Given the description of an element on the screen output the (x, y) to click on. 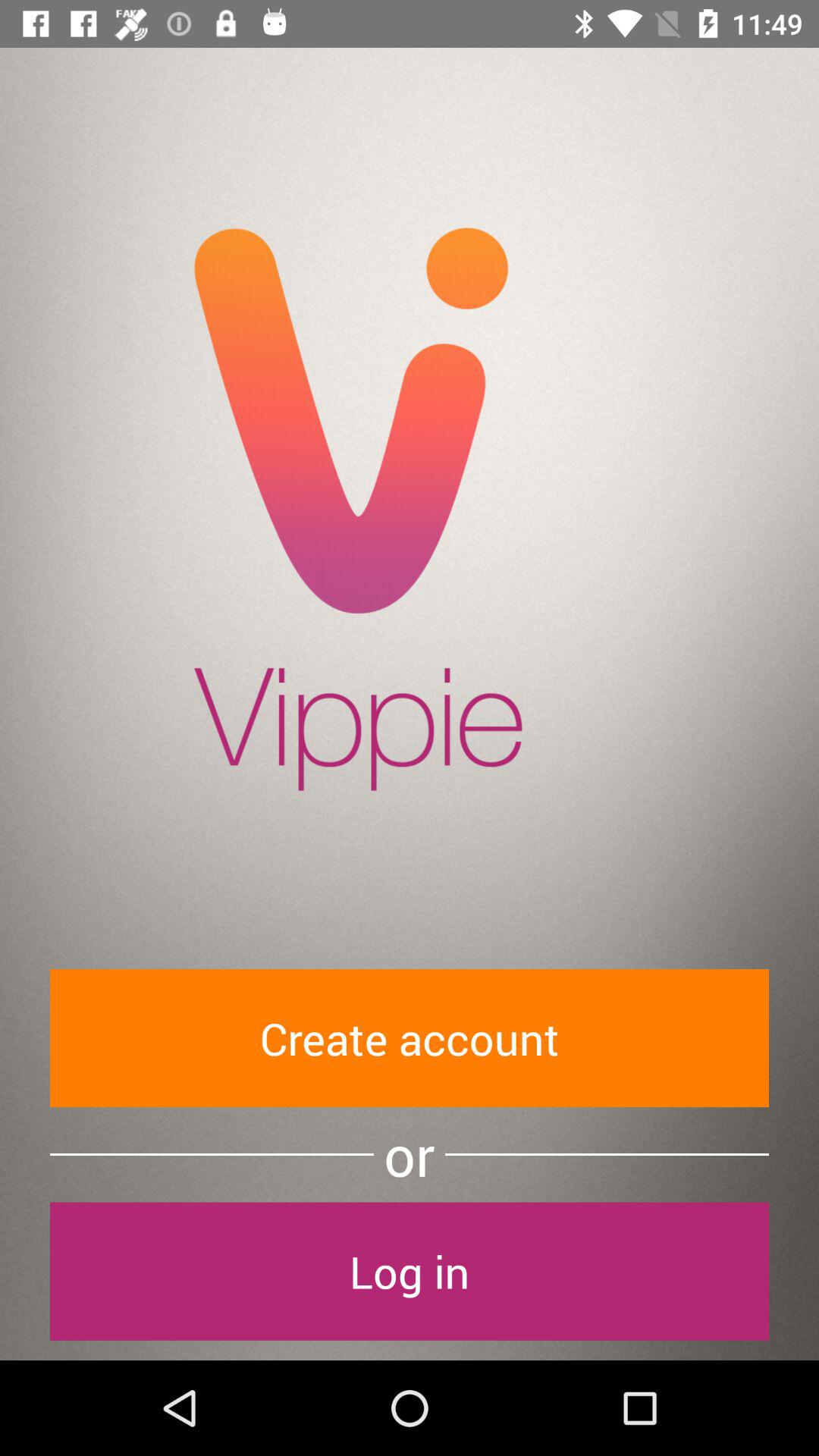
select icon above the or (409, 1038)
